Given the description of an element on the screen output the (x, y) to click on. 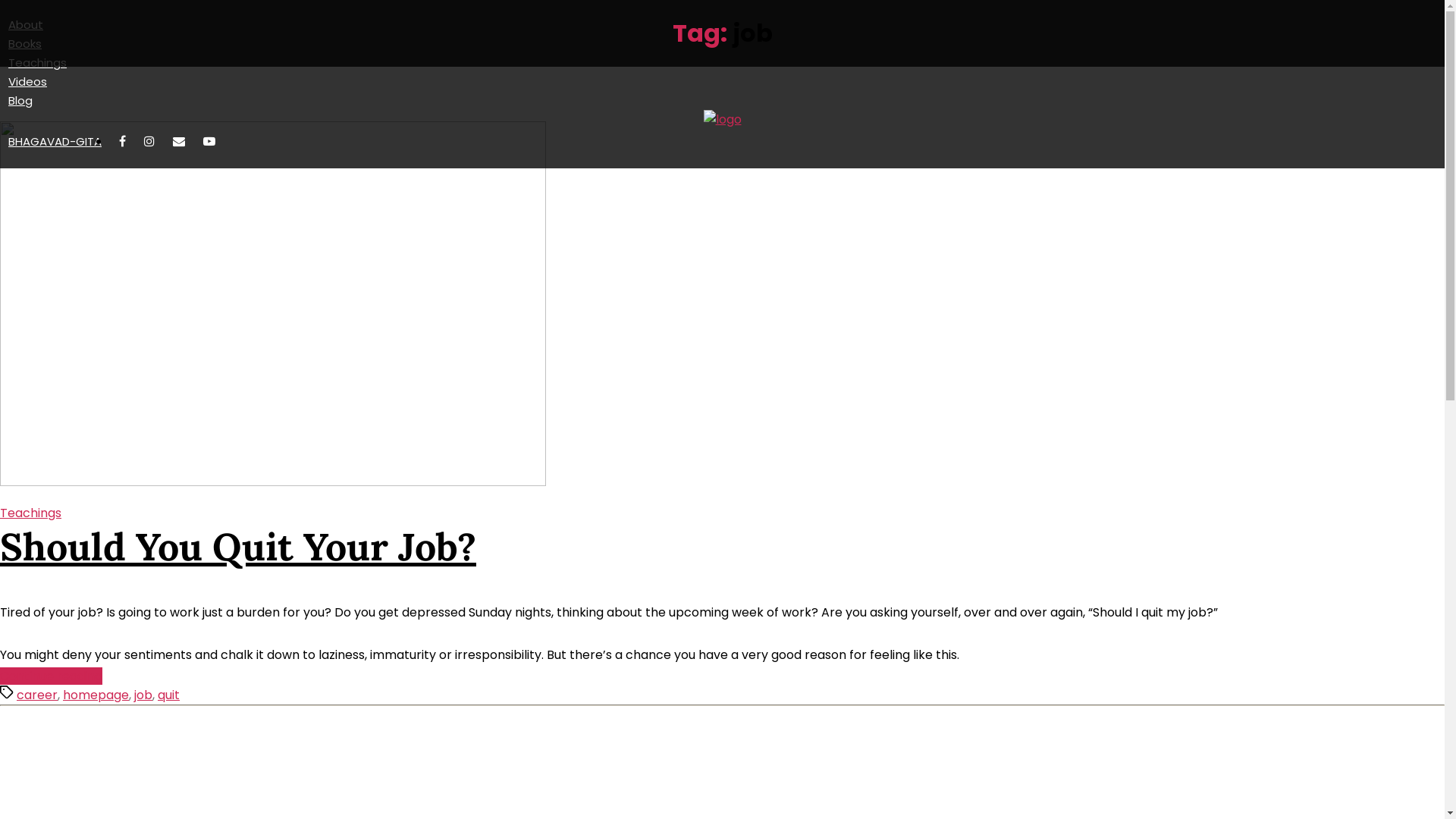
Videos Element type: text (27, 81)
Should You Quit Your Job? Element type: text (238, 546)
job Element type: text (143, 694)
Books Element type: text (25, 43)
BHAGAVAD-GITA Element type: text (54, 141)
Teachings Element type: text (30, 512)
Blog Element type: text (20, 100)
Teachings Element type: text (37, 62)
homepage Element type: text (95, 694)
quit Element type: text (168, 694)
About Element type: text (25, 24)
career Element type: text (36, 694)
